Given the description of an element on the screen output the (x, y) to click on. 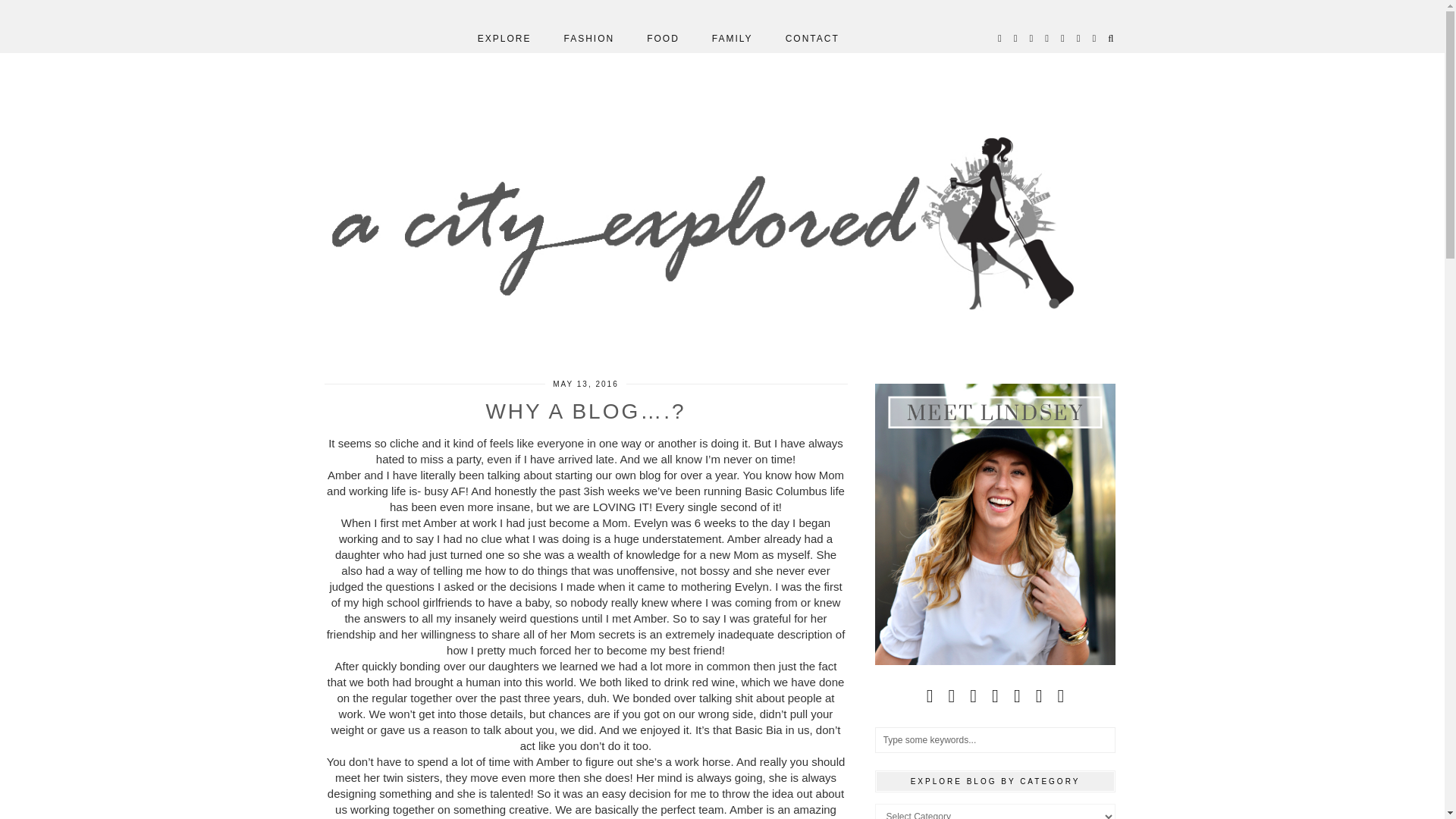
EXPLORE (505, 38)
FOOD (662, 38)
CONTACT (812, 38)
FAMILY (732, 38)
FASHION (588, 38)
